Given the description of an element on the screen output the (x, y) to click on. 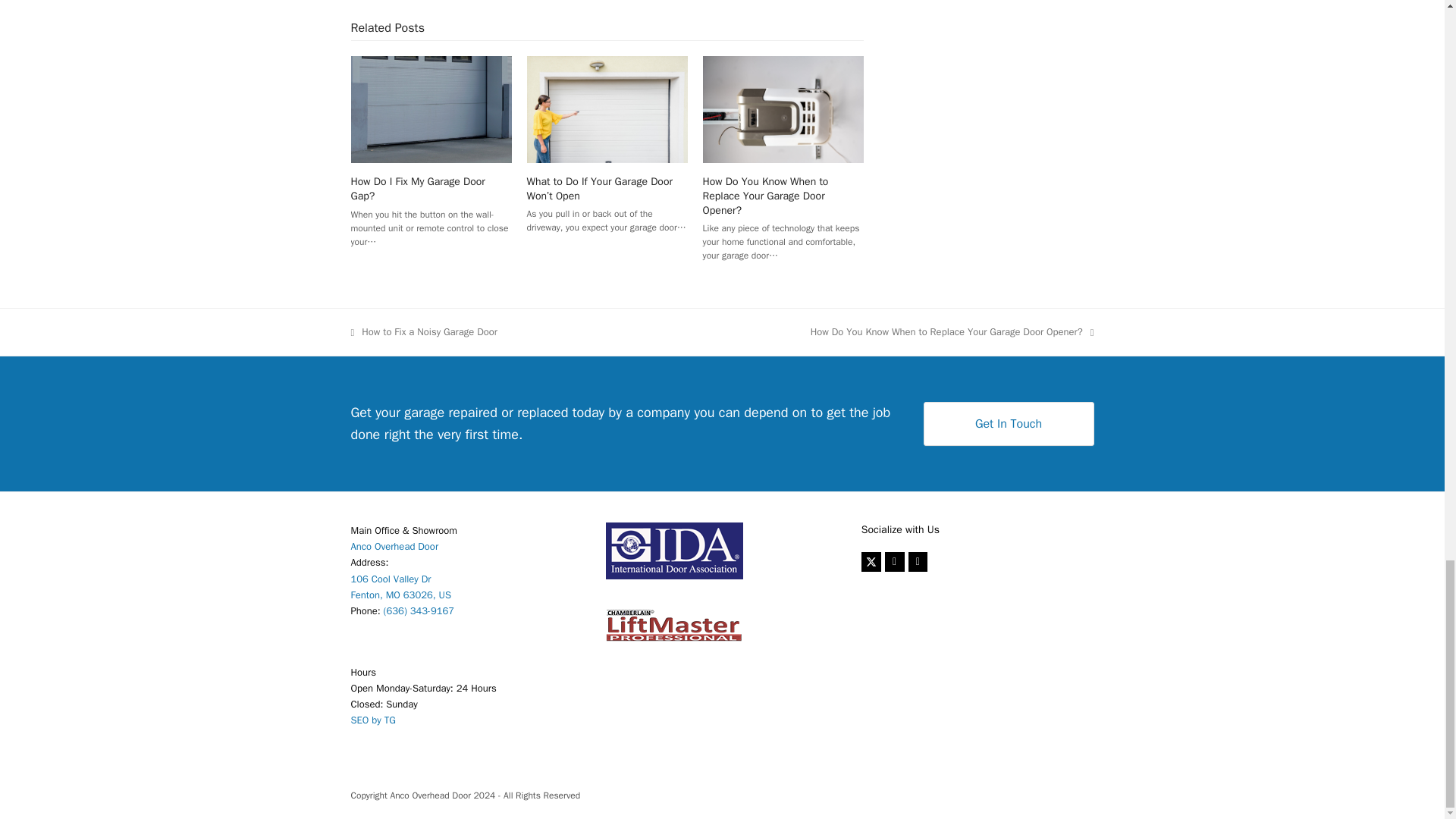
How Do You Know When to Replace Your Garage Door Opener? (783, 107)
Yelp (918, 561)
Facebook (894, 561)
How Do I Fix My Garage Door Gap? (430, 108)
